Given the description of an element on the screen output the (x, y) to click on. 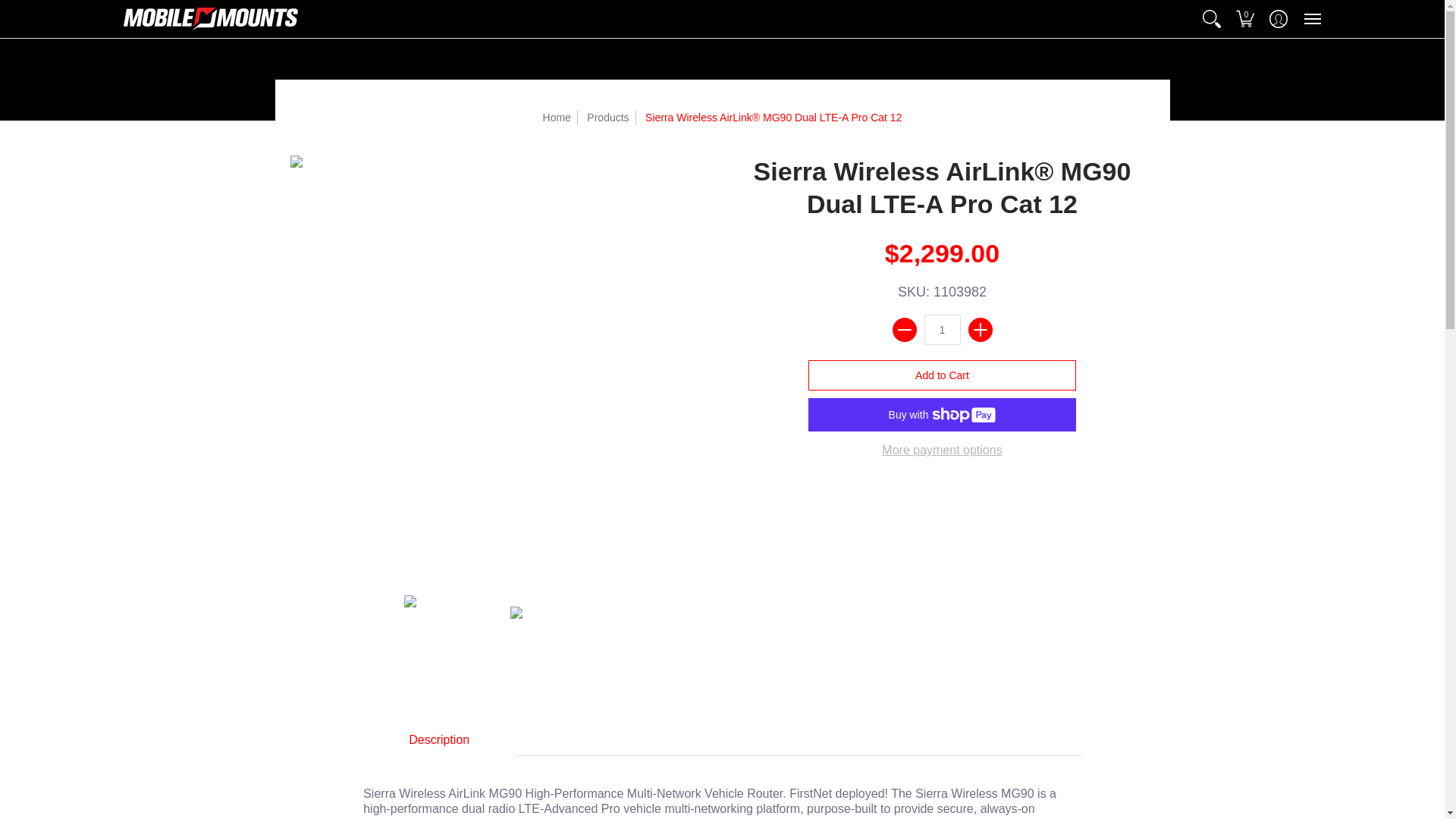
Add to Cart (941, 375)
More payment options (941, 450)
Back to the home page (556, 117)
Products (607, 117)
Home (556, 117)
Mobile Mounting Solutions, Inc. (209, 18)
Description (438, 739)
1 (941, 329)
Add to Cart (941, 375)
